Given the description of an element on the screen output the (x, y) to click on. 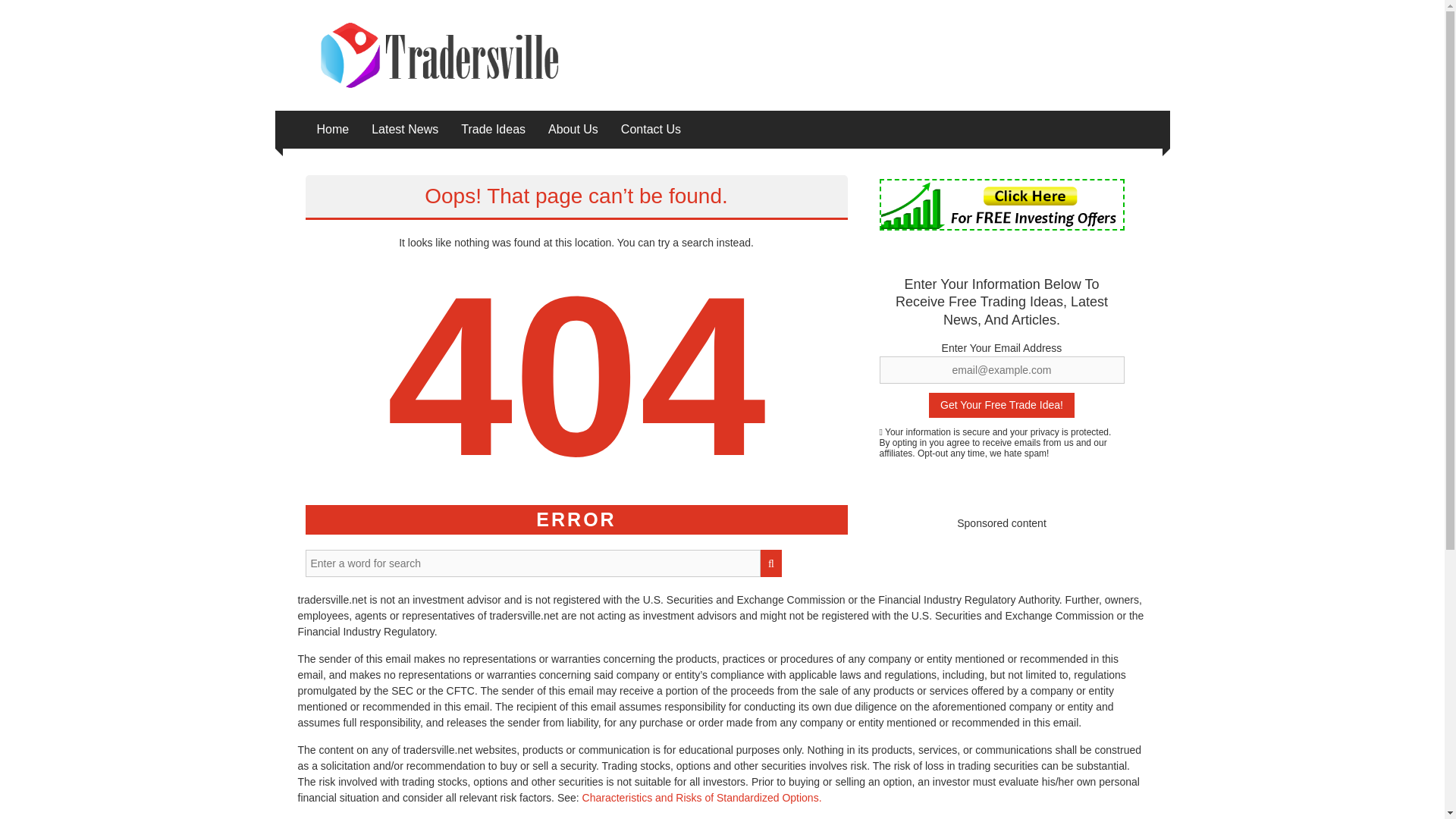
Latest News (404, 129)
Home (333, 129)
Trade Ideas (493, 129)
Characteristics and Risks of Standardized Options. (702, 797)
Get Your Free Trade Idea! (1001, 405)
Contact Us (651, 129)
About Us (573, 129)
